Given the description of an element on the screen output the (x, y) to click on. 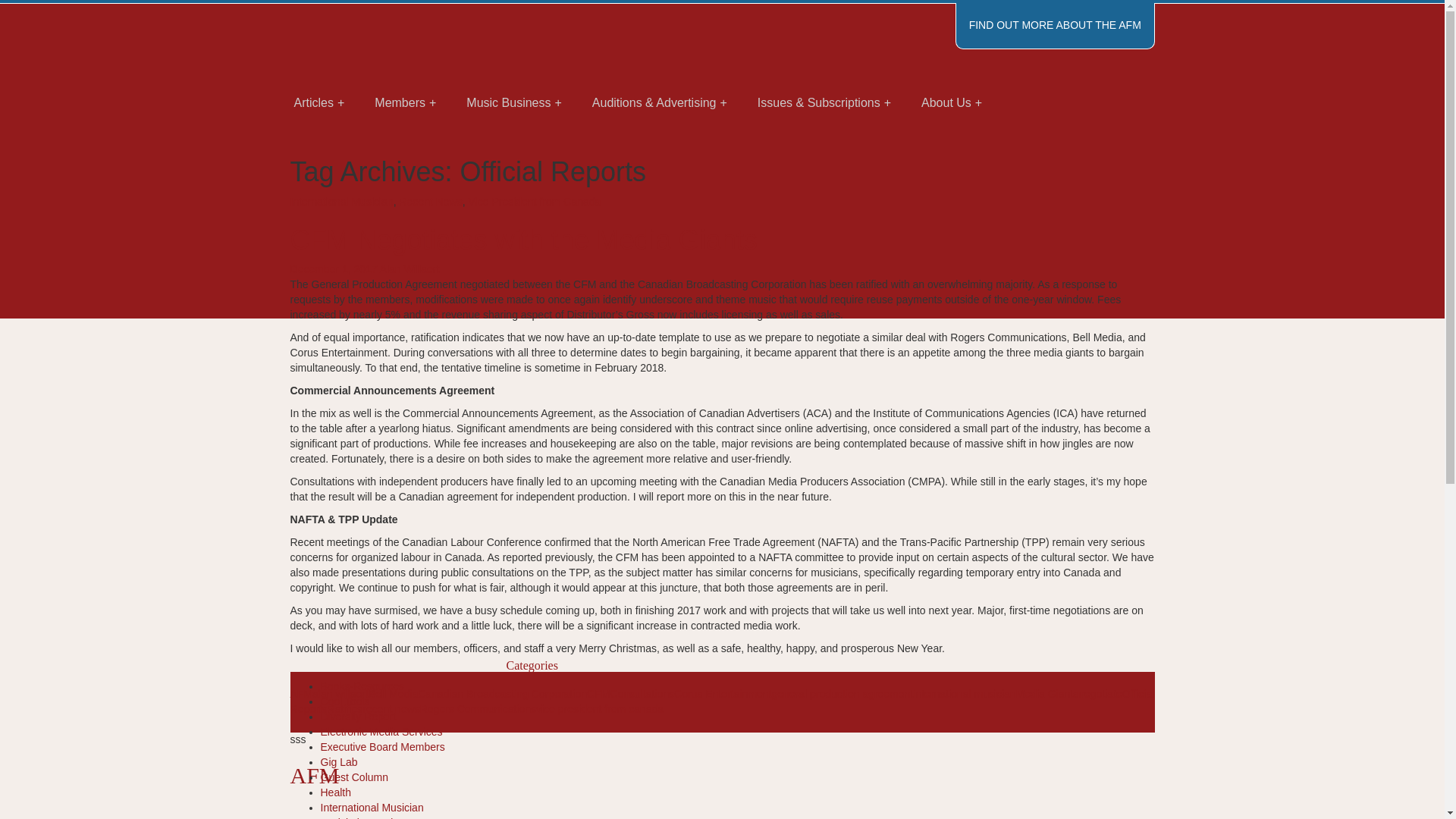
About Us (951, 102)
Articles (319, 102)
Members (405, 102)
Music Business (513, 102)
